Given the description of an element on the screen output the (x, y) to click on. 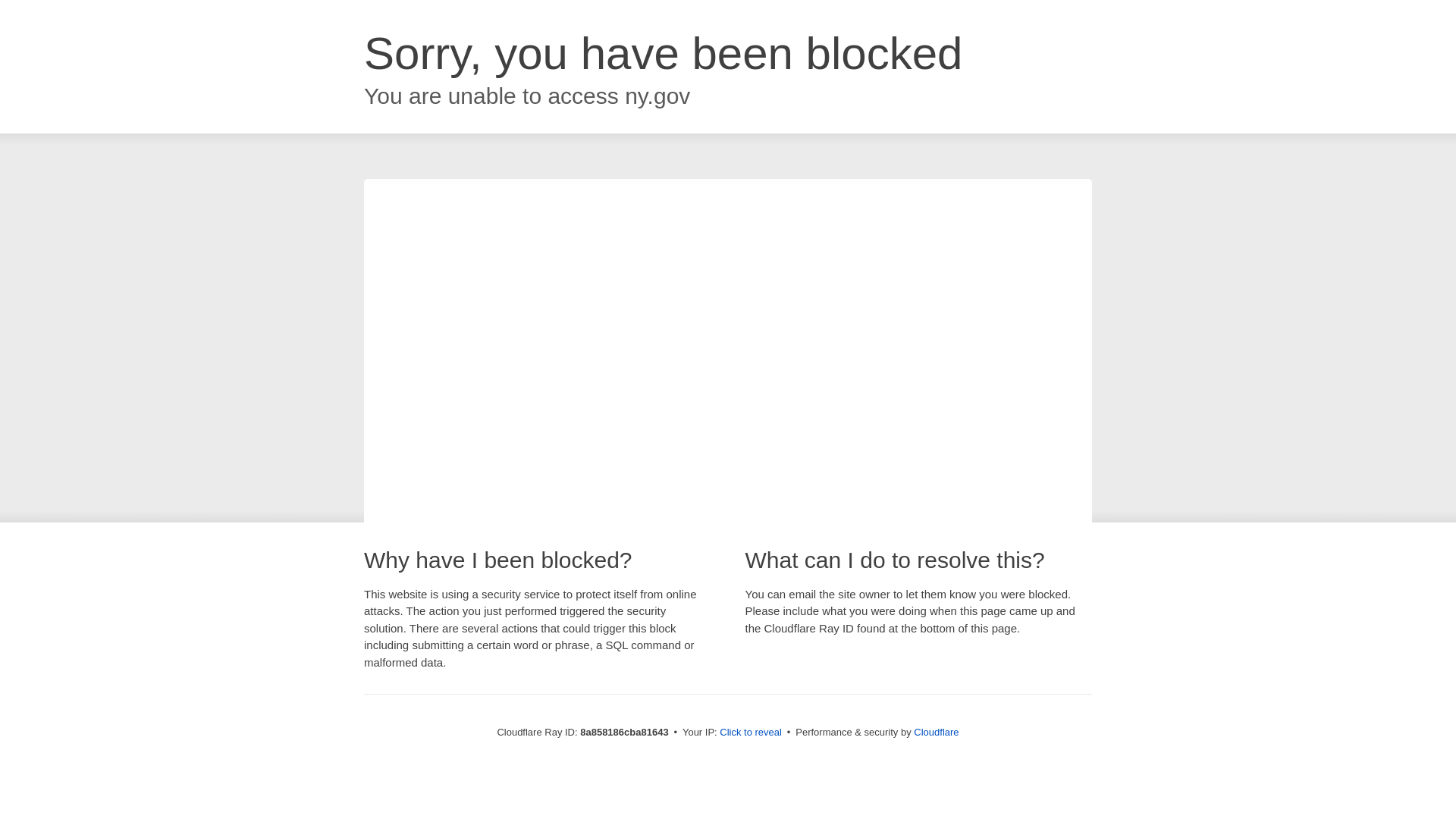
Click to reveal (750, 732)
Cloudflare (936, 731)
